Given the description of an element on the screen output the (x, y) to click on. 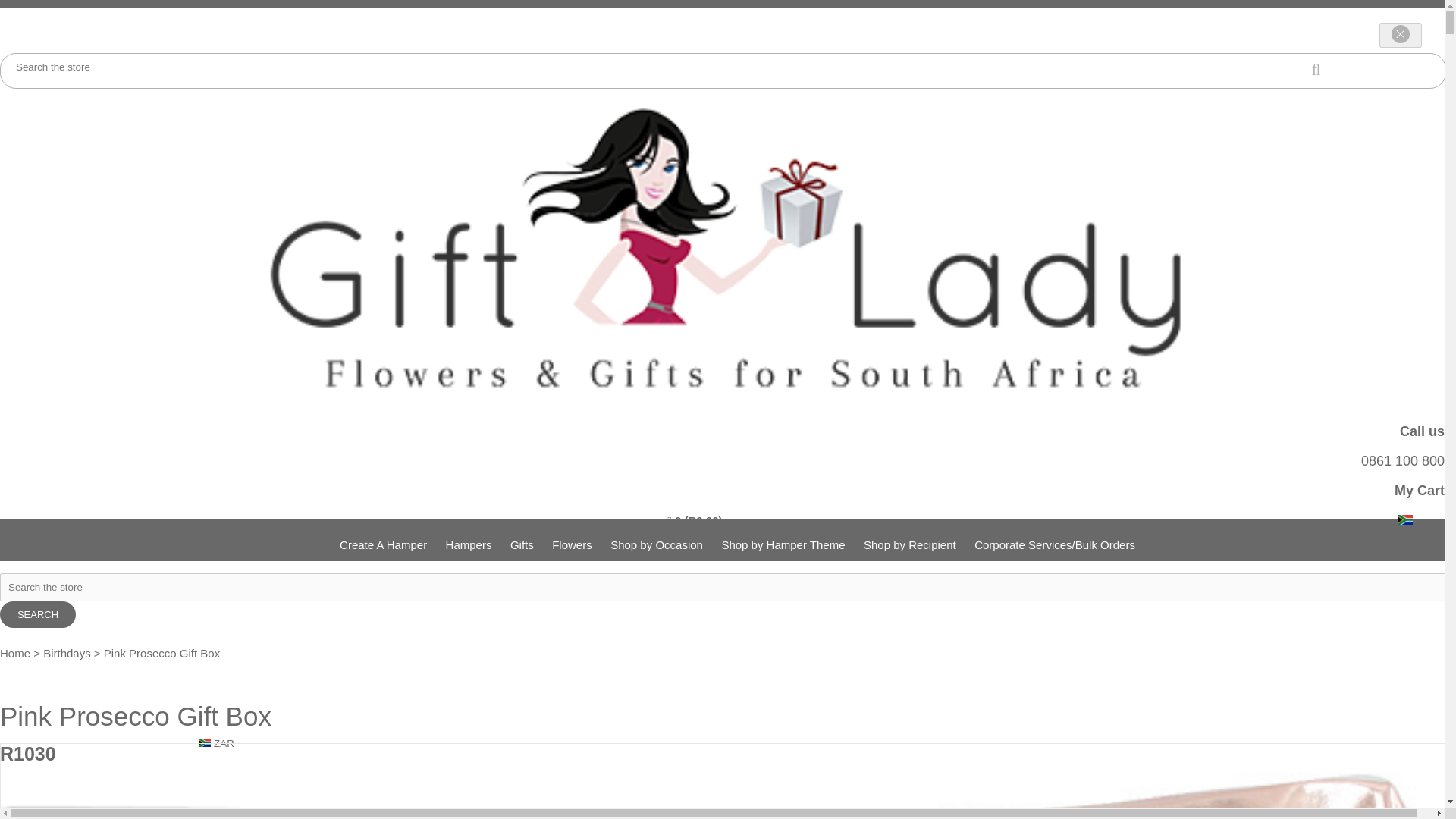
Wishlist (1168, 14)
0861 100 800 (1402, 460)
Log into your account (1312, 14)
ZAR (1404, 520)
Check Out (1252, 14)
Pink Prosecco Gift Box (144, 781)
Register (1423, 14)
ZAR (44, 816)
Login (1340, 14)
Gifts (522, 544)
Hampers (468, 544)
ZAR (1420, 521)
Create A Hamper (382, 544)
Nationwide Delivery (1061, 14)
